Given the description of an element on the screen output the (x, y) to click on. 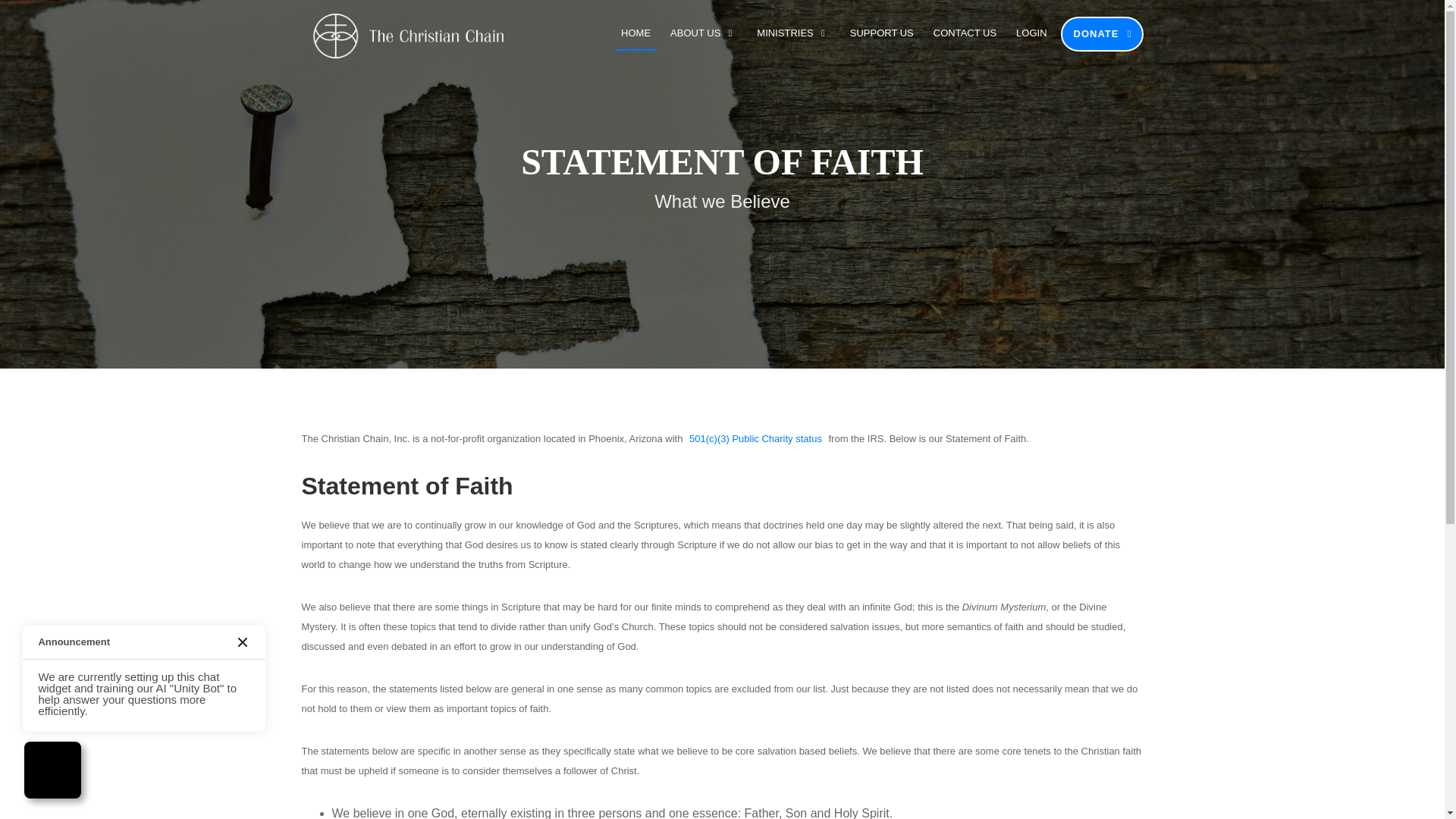
LOGIN (1031, 36)
SUPPORT US (882, 36)
MINISTRIES (793, 36)
ABOUT US (702, 36)
HOME (635, 36)
DONATE (1101, 33)
CONTACT US (965, 36)
